Given the description of an element on the screen output the (x, y) to click on. 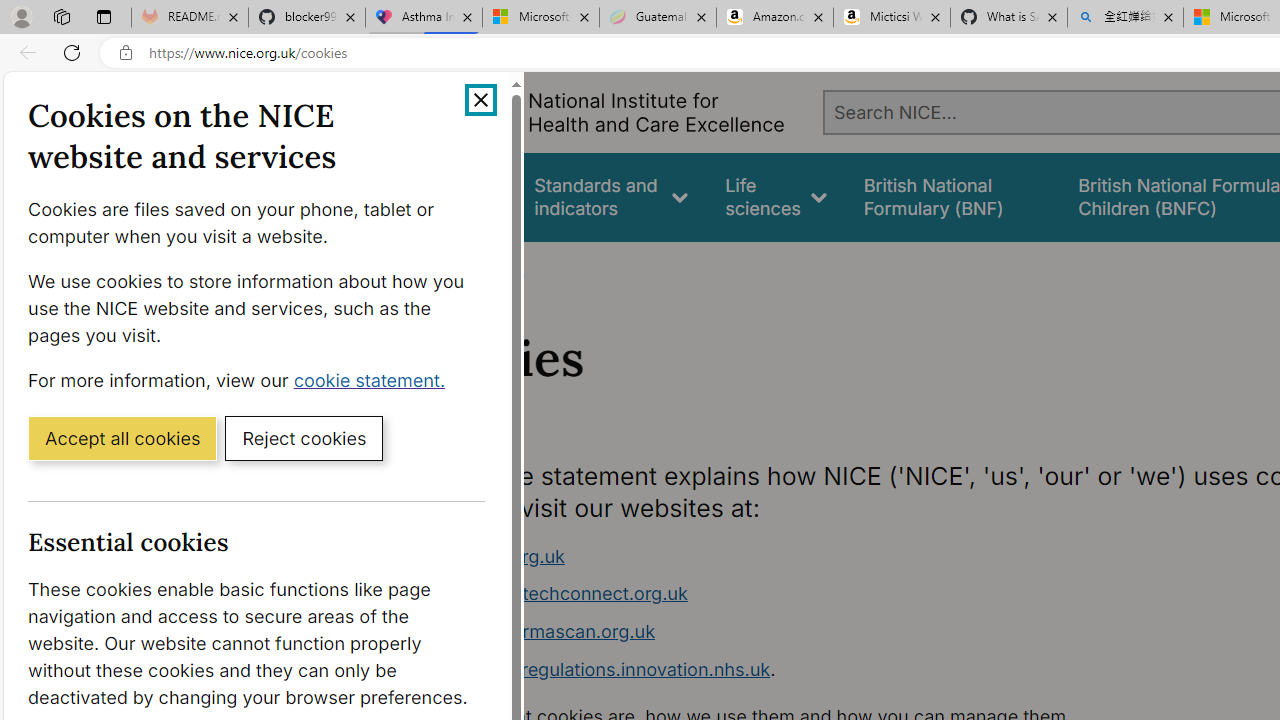
www.nice.org.uk (492, 556)
www.nice.org.uk (796, 556)
Home> (433, 268)
Guidance (458, 196)
www.healthtechconnect.org.uk (554, 593)
Life sciences (776, 196)
Guidance (458, 196)
false (952, 196)
